Given the description of an element on the screen output the (x, y) to click on. 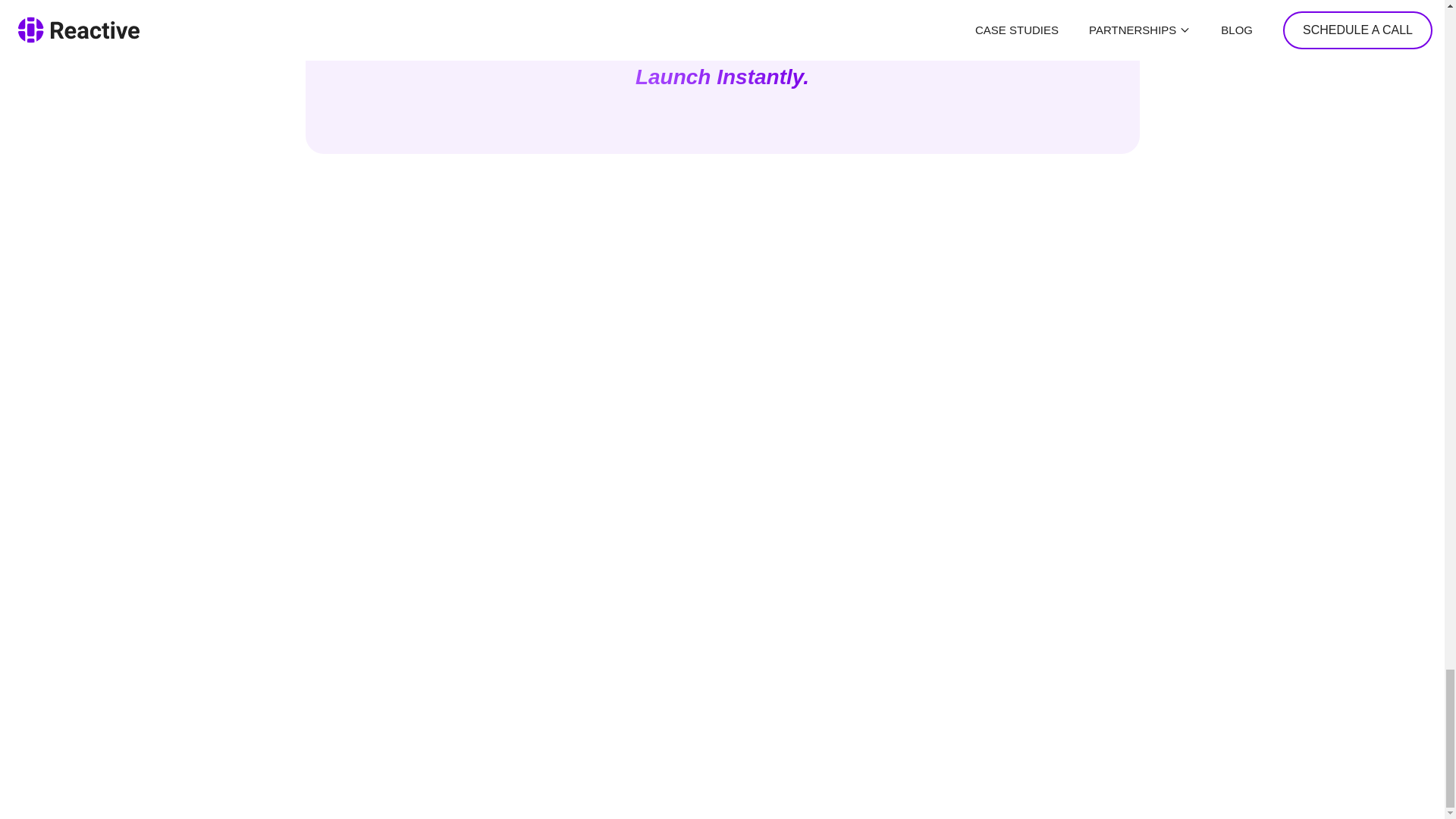
Services Partner (963, 588)
Jobs (1311, 588)
START FOR FREE (722, 23)
Terms of service (141, 542)
Case Studies (1311, 542)
Support (1311, 611)
Influencer Referral Program (963, 634)
Privacy Policy (141, 565)
Interactive Demo (537, 542)
Technology Partner (963, 611)
Blog (1311, 565)
On-site Live Events and Shoppable Vidoes (537, 565)
Affiliate Publishers (963, 542)
Referral Partner (963, 565)
